Given the description of an element on the screen output the (x, y) to click on. 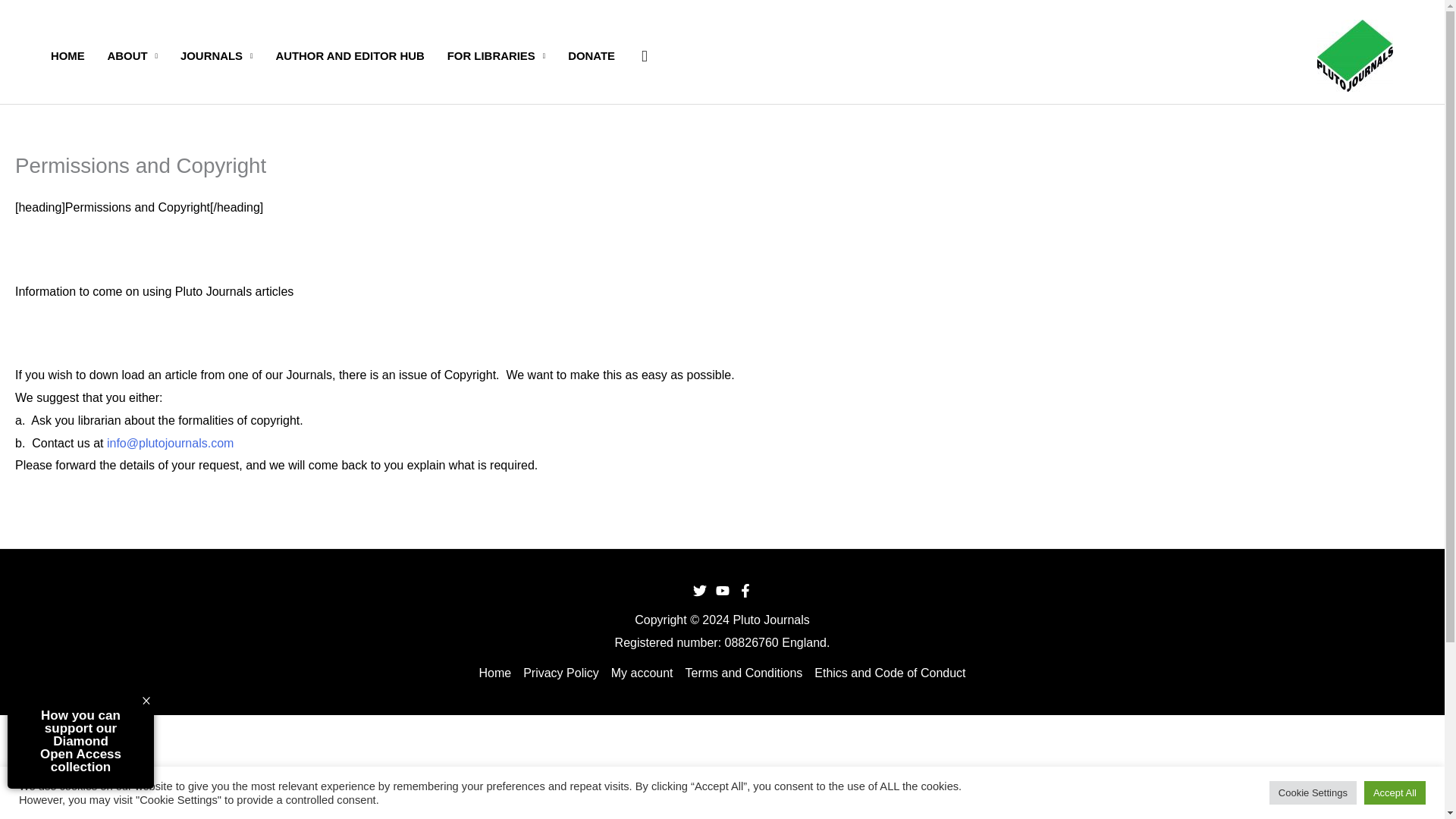
FOR LIBRARIES (495, 54)
DONATE (591, 54)
ABOUT (132, 54)
AUTHOR AND EDITOR HUB (349, 54)
JOURNALS (215, 54)
HOME (67, 54)
